Given the description of an element on the screen output the (x, y) to click on. 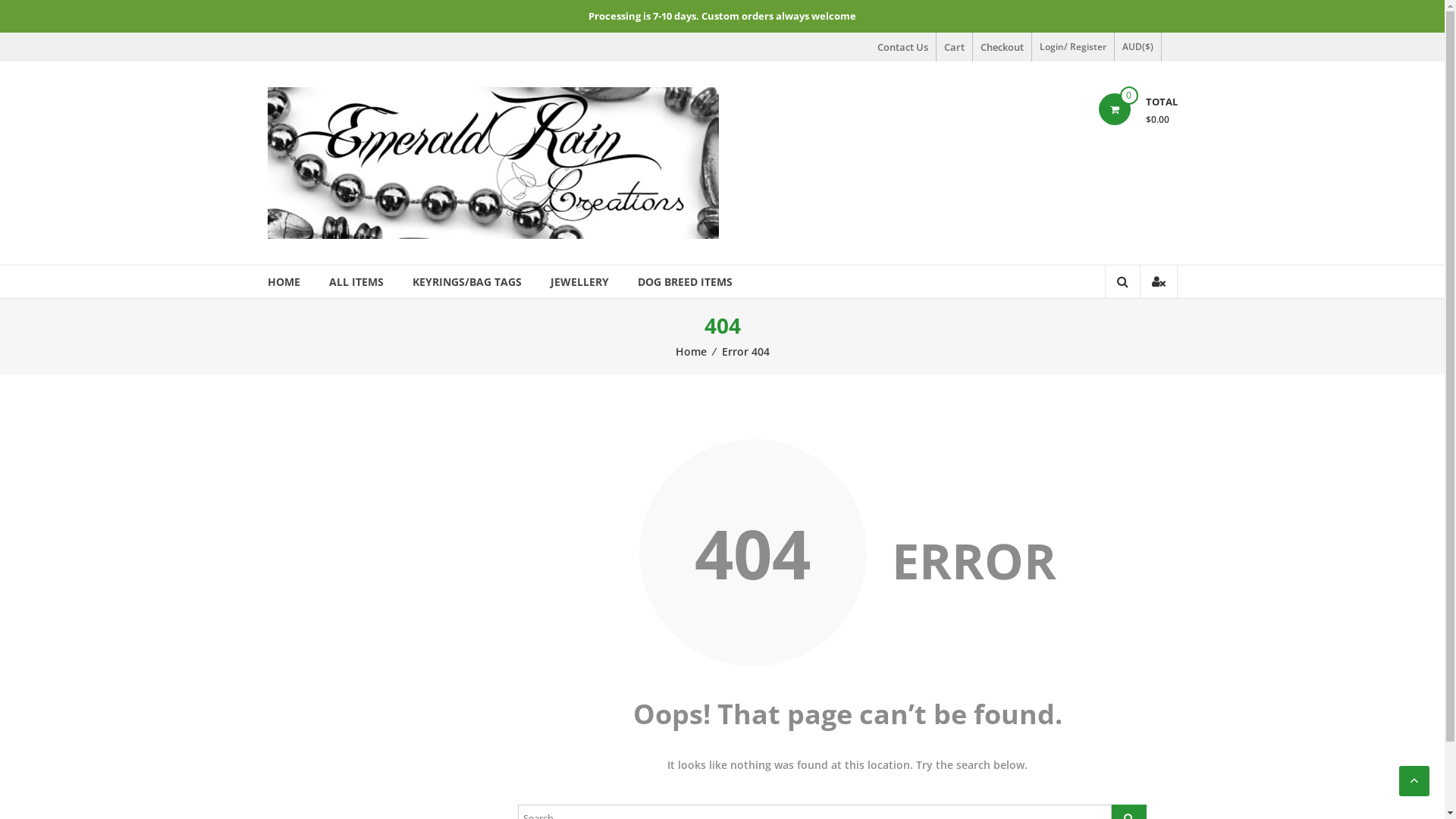
JEWELLERY Element type: text (579, 281)
ALL ITEMS Element type: text (356, 281)
Cart Element type: text (953, 46)
HOME Element type: text (282, 281)
0 Element type: text (1113, 109)
Home Element type: text (690, 351)
KEYRINGS/BAG TAGS Element type: text (466, 281)
Checkout Element type: text (1001, 46)
Login/ Register Element type: text (1072, 46)
DOG BREED ITEMS Element type: text (684, 281)
EmeraldRain Creations Element type: text (334, 113)
Contact Us Element type: text (902, 46)
Search Element type: text (1112, 333)
AUD($) Element type: text (1137, 46)
